Given the description of an element on the screen output the (x, y) to click on. 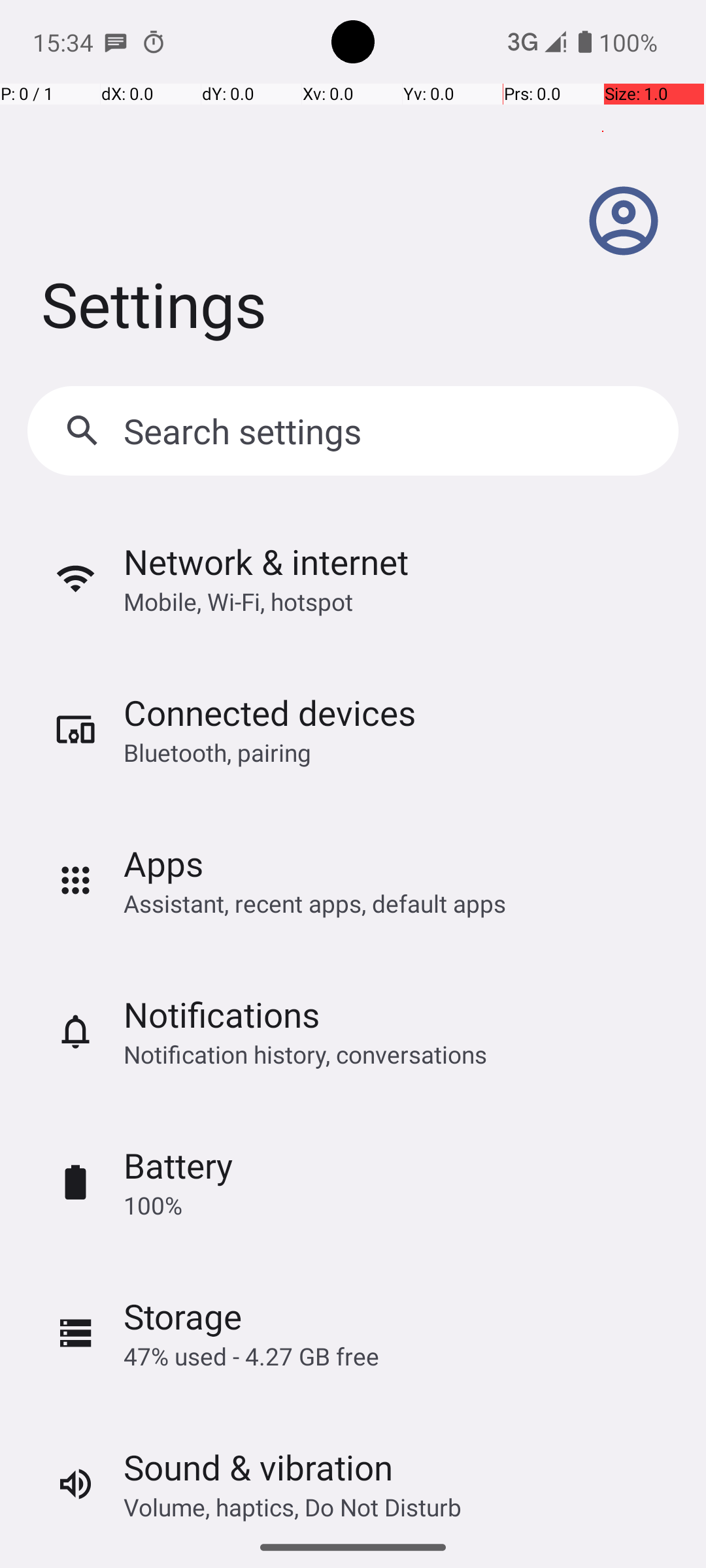
47% used - 4.27 GB free Element type: android.widget.TextView (251, 1355)
